Given the description of an element on the screen output the (x, y) to click on. 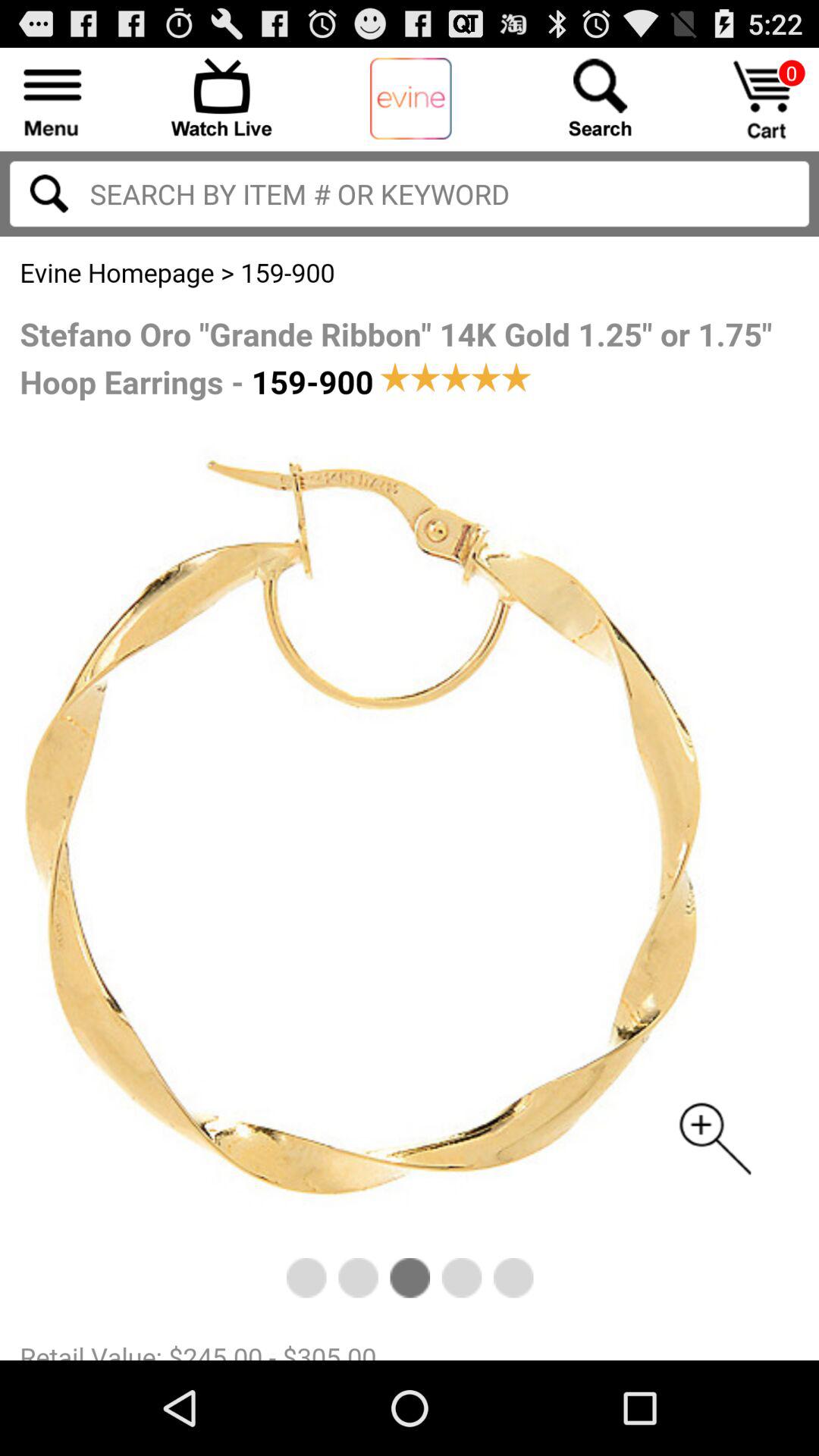
menu dropdown (52, 97)
